Given the description of an element on the screen output the (x, y) to click on. 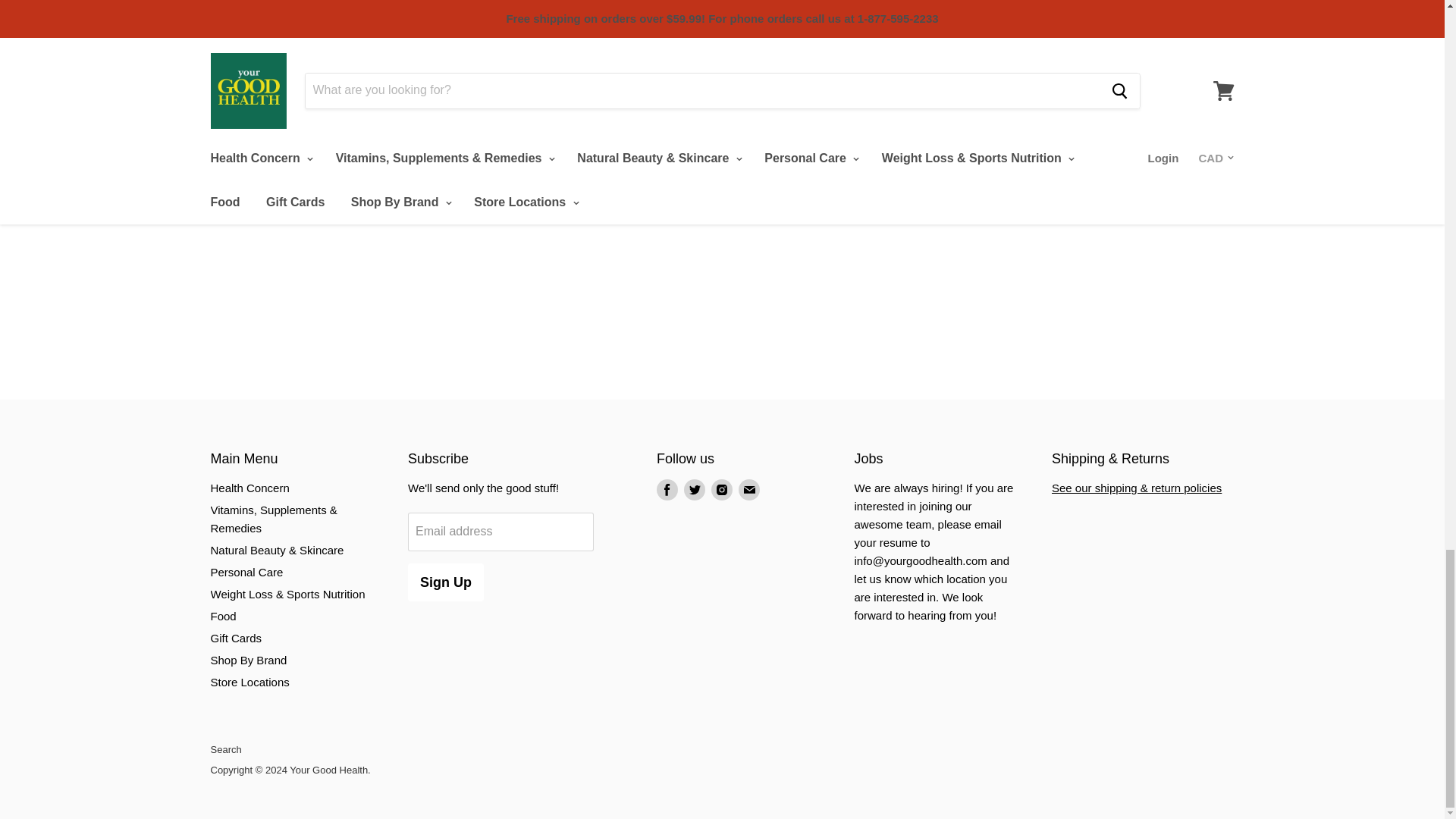
Facebook (667, 489)
E-mail (748, 489)
Twitter (694, 489)
Instagram (721, 489)
